Given the description of an element on the screen output the (x, y) to click on. 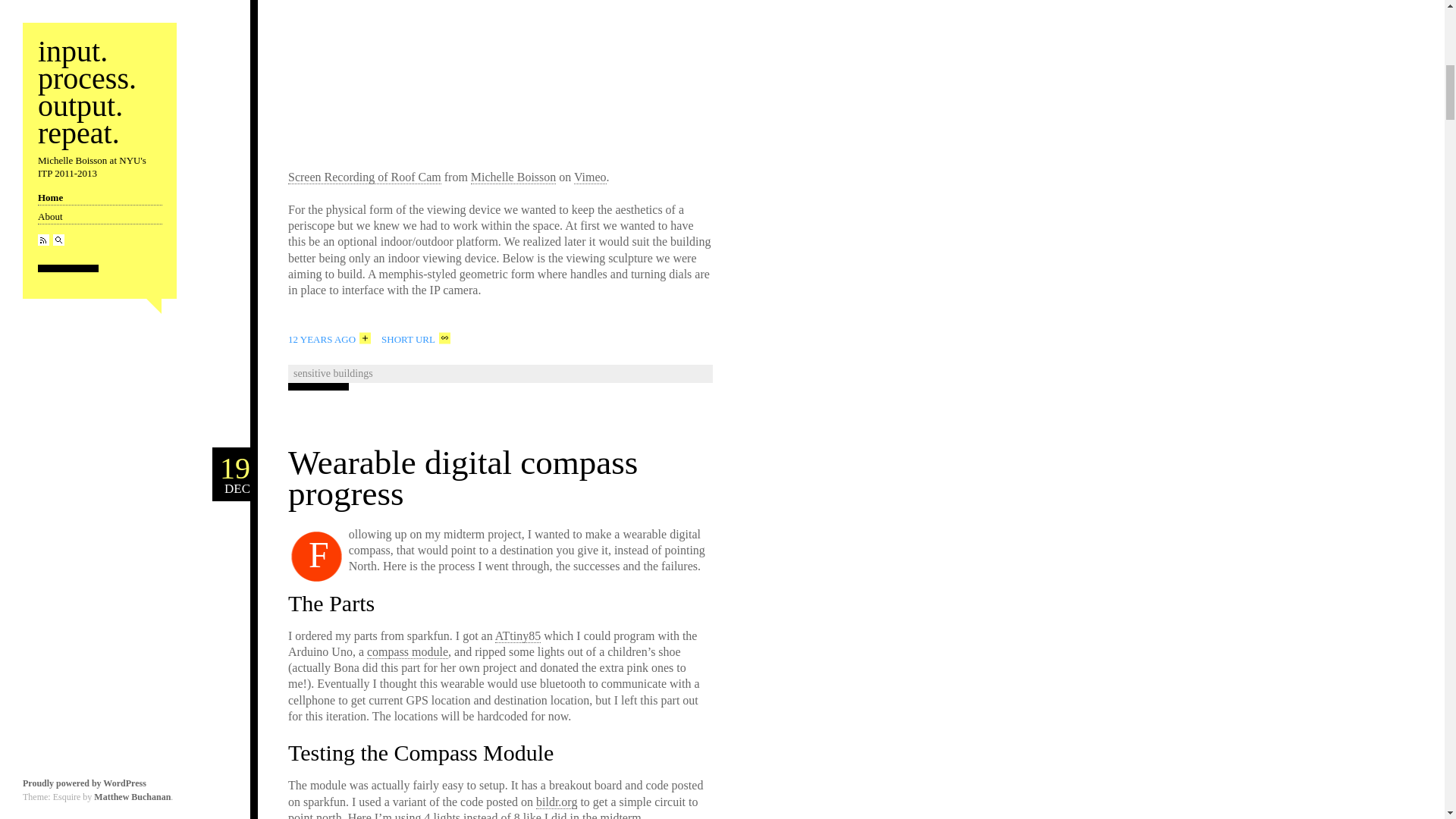
bildr.org (555, 802)
Wearable digital compass progress (462, 477)
Permalink to Wearable digital compass progress (462, 477)
compass module (407, 652)
Screen Recording of Roof Cam (231, 475)
12 YEARS AGO (364, 177)
Michelle Boisson (329, 337)
sensitive buildings (513, 177)
Vimeo (333, 373)
ATtiny85 (590, 177)
SHORT URL (517, 635)
